Given the description of an element on the screen output the (x, y) to click on. 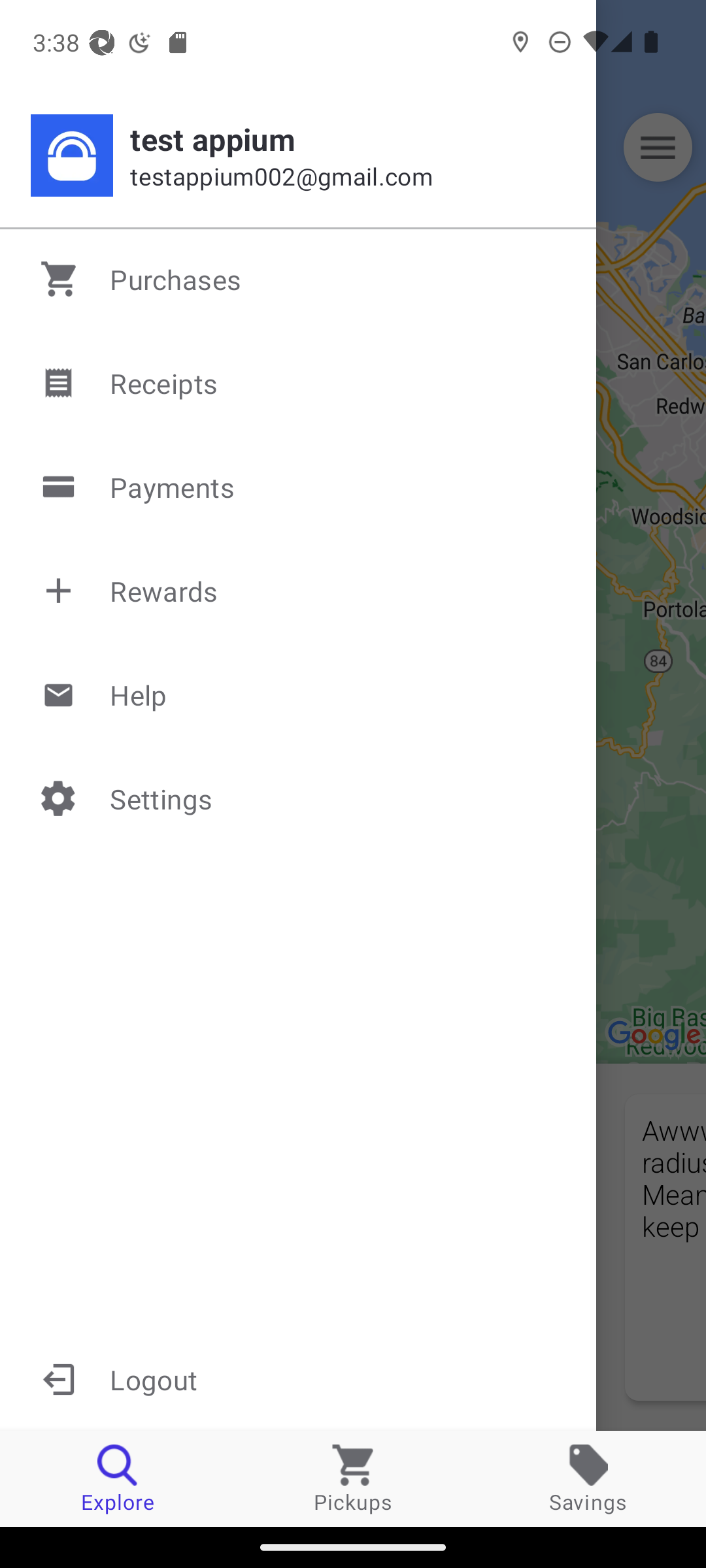
Purchases (299, 278)
Receipts (299, 382)
Payments (299, 487)
Rewards (299, 590)
Help (299, 694)
Settings (299, 797)
Logout (297, 1379)
Pickups (352, 1478)
Savings (588, 1478)
